Given the description of an element on the screen output the (x, y) to click on. 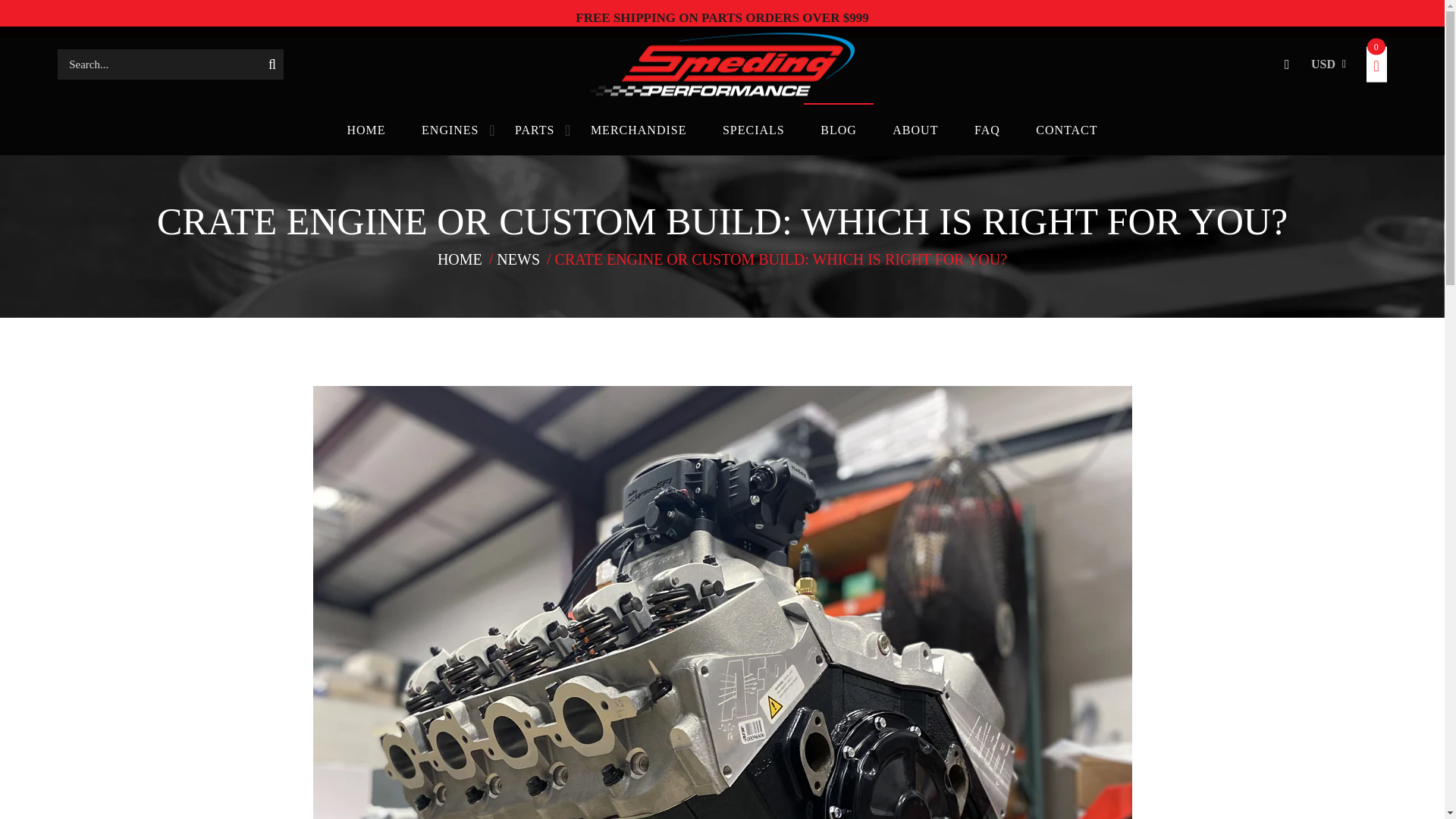
FAQ (987, 129)
HOME (461, 258)
SPECIALS (754, 129)
Back to the frontpage (461, 258)
PARTS (533, 129)
BLOG (838, 129)
CONTACT (1066, 129)
ABOUT (915, 129)
0 (1377, 67)
ENGINES (449, 129)
NEWS (519, 258)
HOME (365, 129)
MERCHANDISE (638, 129)
